Given the description of an element on the screen output the (x, y) to click on. 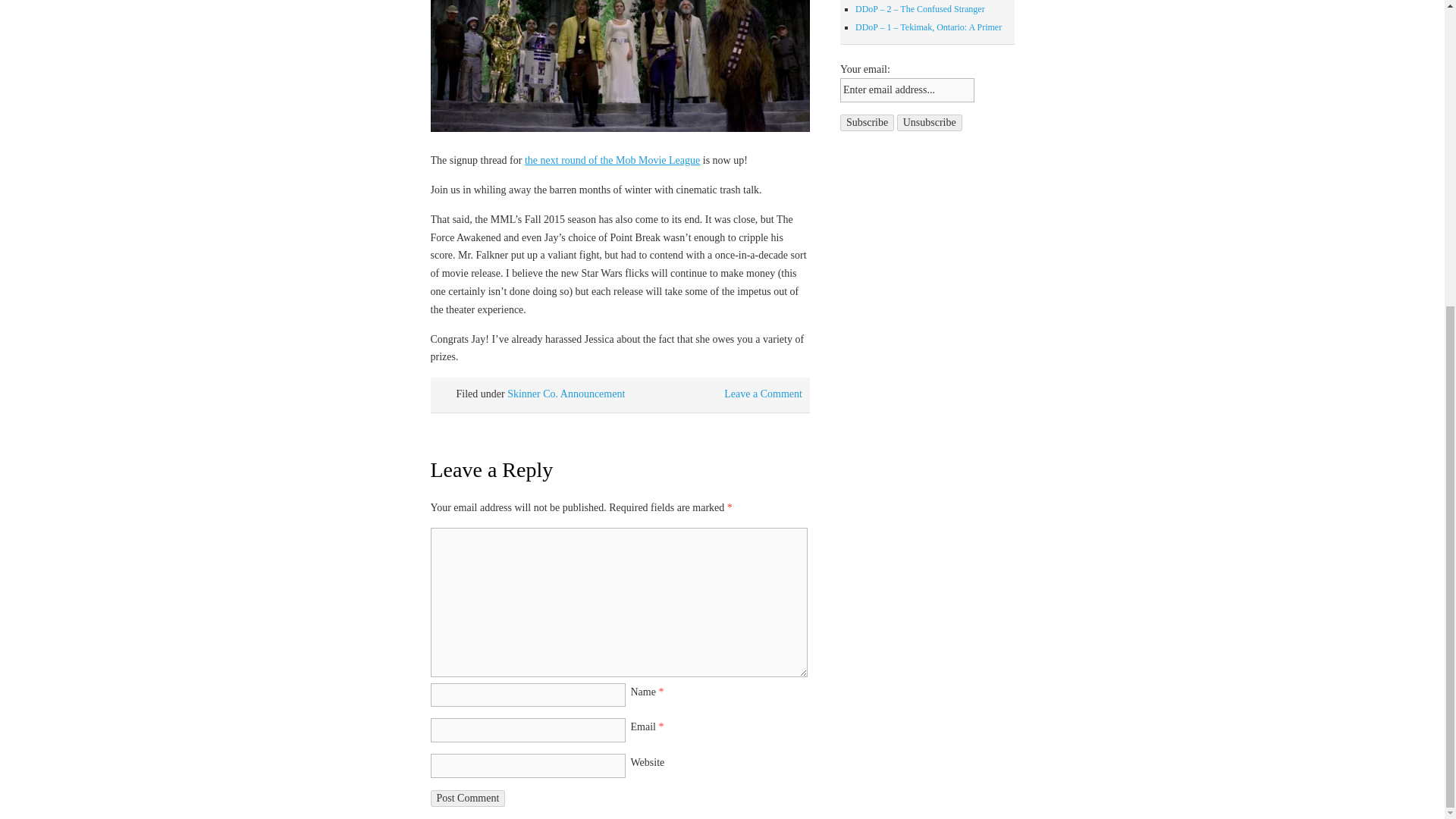
Unsubscribe (929, 122)
the next round of the Mob Movie League (612, 160)
Enter email address... (907, 89)
Leave a Comment (762, 393)
Post Comment (467, 798)
Skinner Co. Announcement (565, 393)
Post Comment (467, 798)
Subscribe (866, 122)
